Given the description of an element on the screen output the (x, y) to click on. 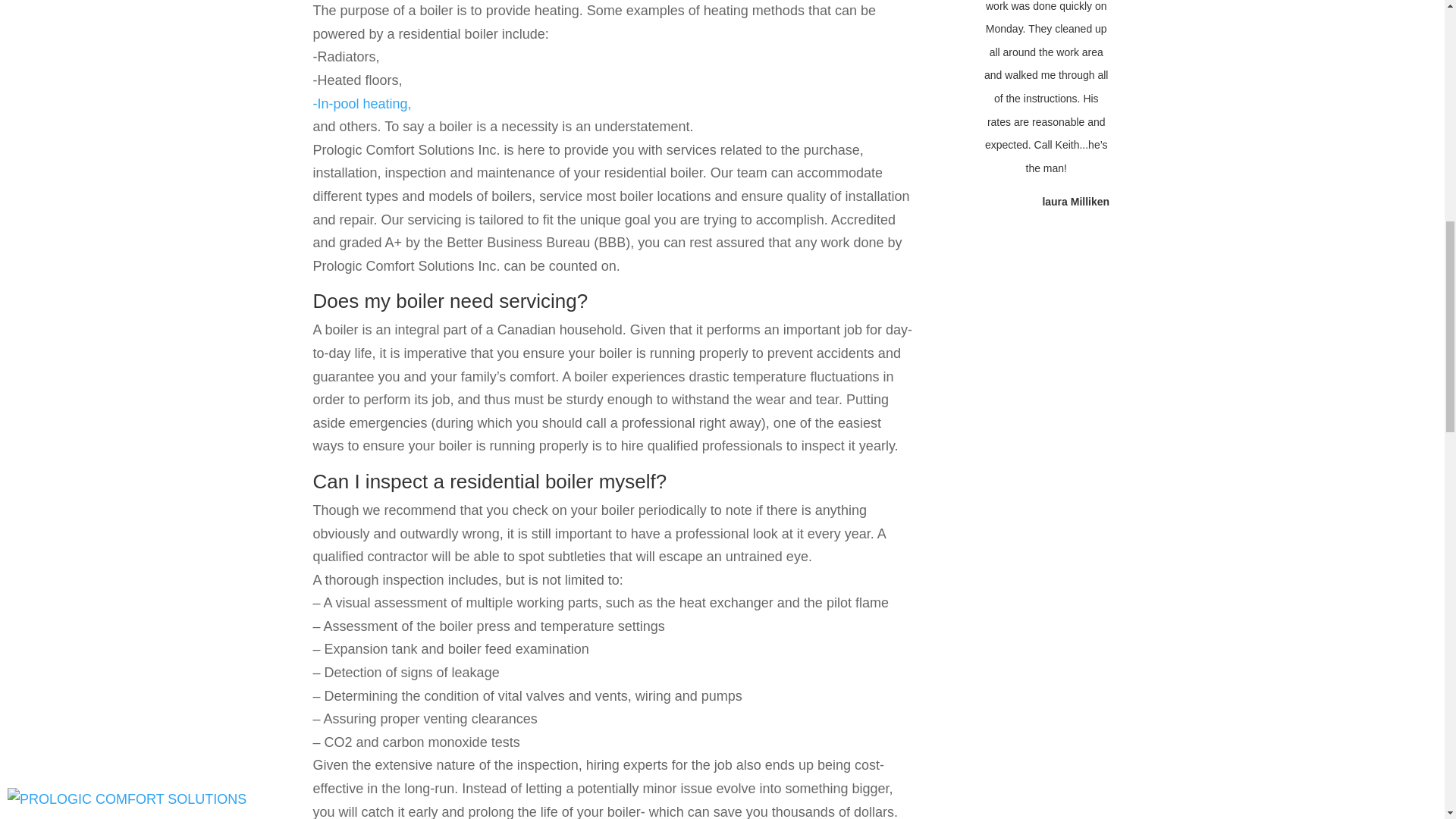
-In-pool heating, (361, 103)
